Given the description of an element on the screen output the (x, y) to click on. 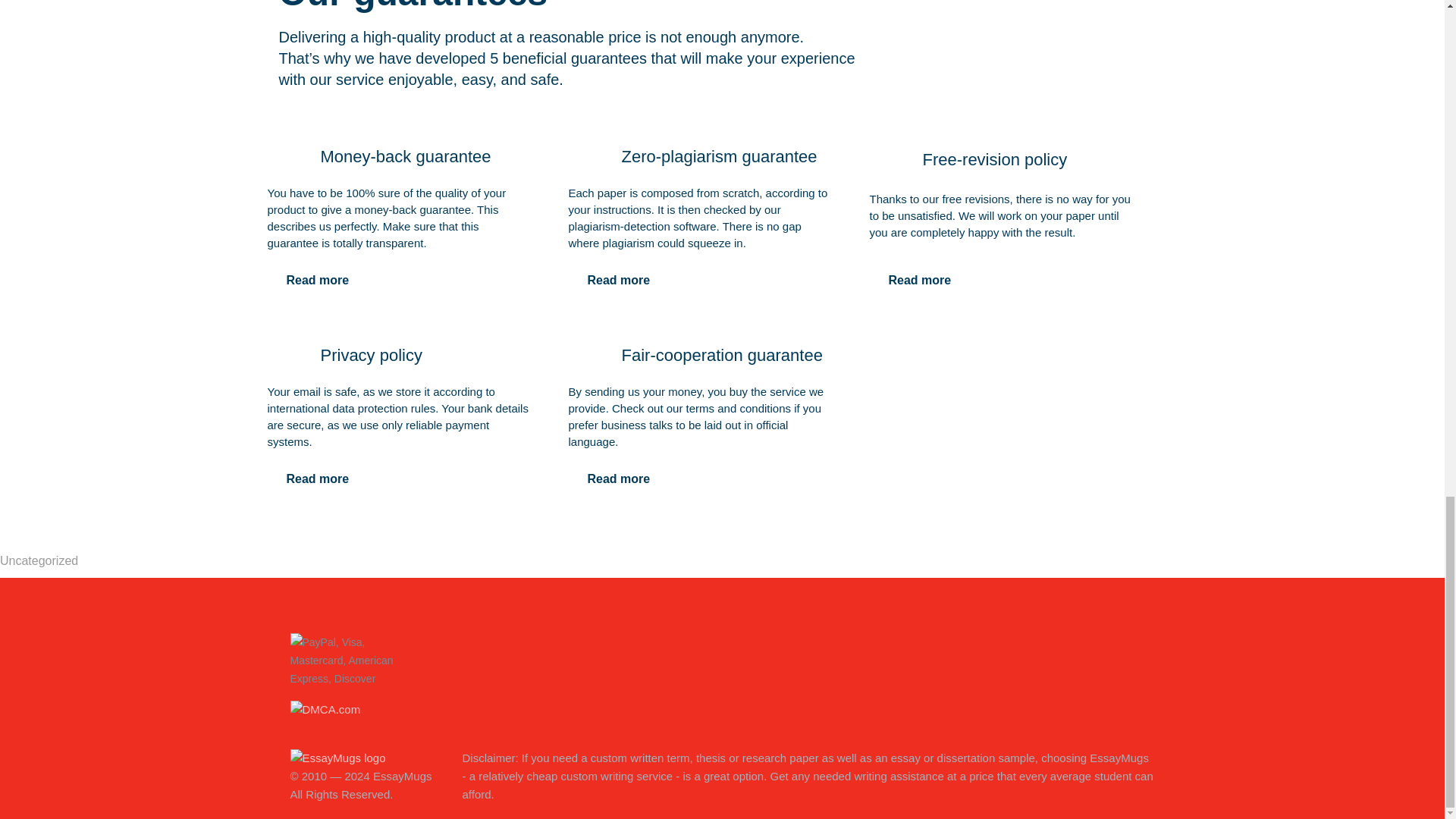
Read more (619, 280)
DMCA (324, 707)
Read more (317, 280)
Read more (619, 479)
Uncategorized (39, 560)
Read more (919, 280)
Read more (317, 479)
